Given the description of an element on the screen output the (x, y) to click on. 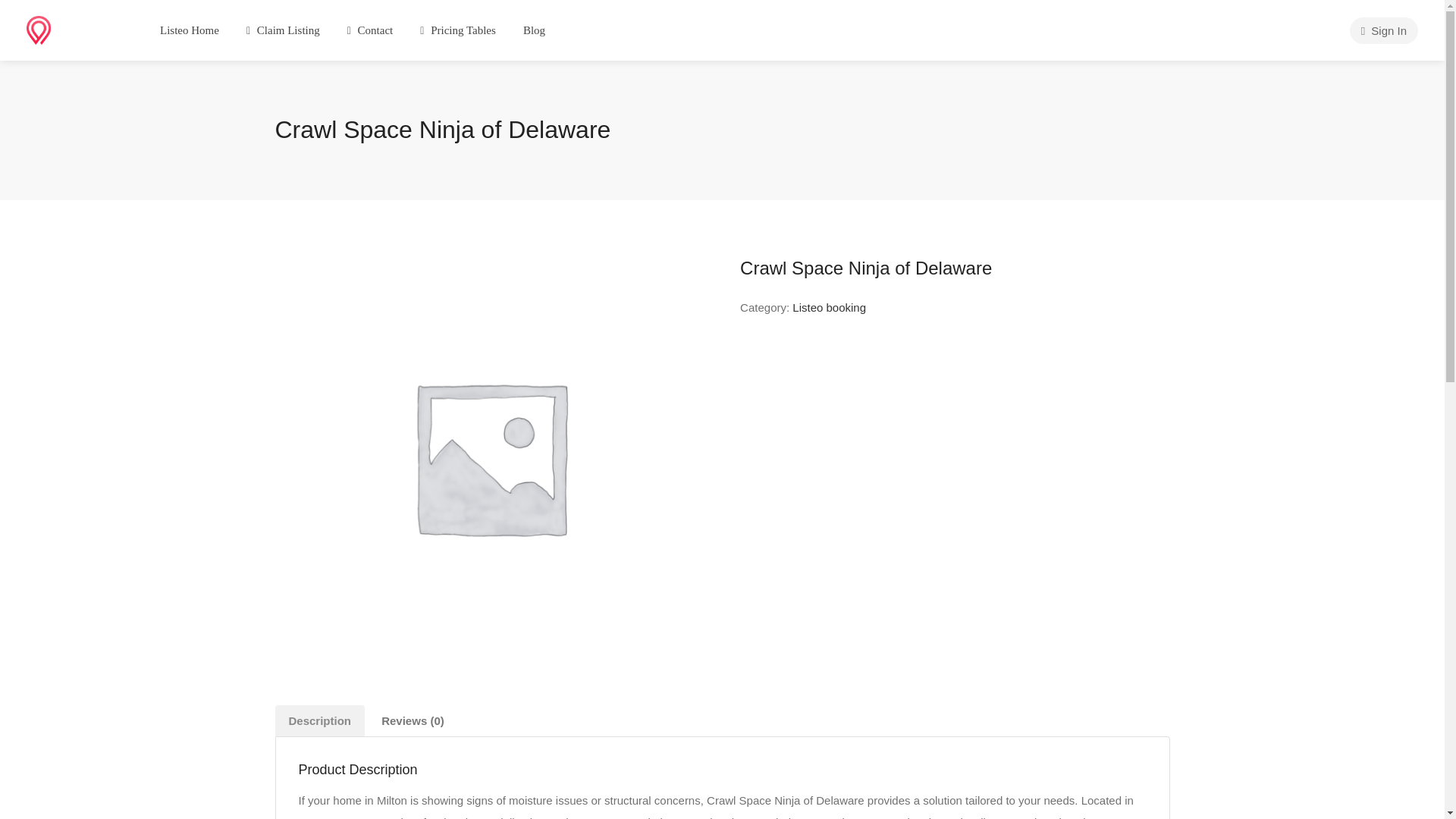
Blog (534, 30)
Pricing Tables (457, 30)
Listeo Reviews (72, 29)
Listeo Home (189, 30)
Sign In (1383, 30)
Description (320, 720)
Contact (370, 30)
Claim Listing (282, 30)
Listeo booking (829, 307)
